Given the description of an element on the screen output the (x, y) to click on. 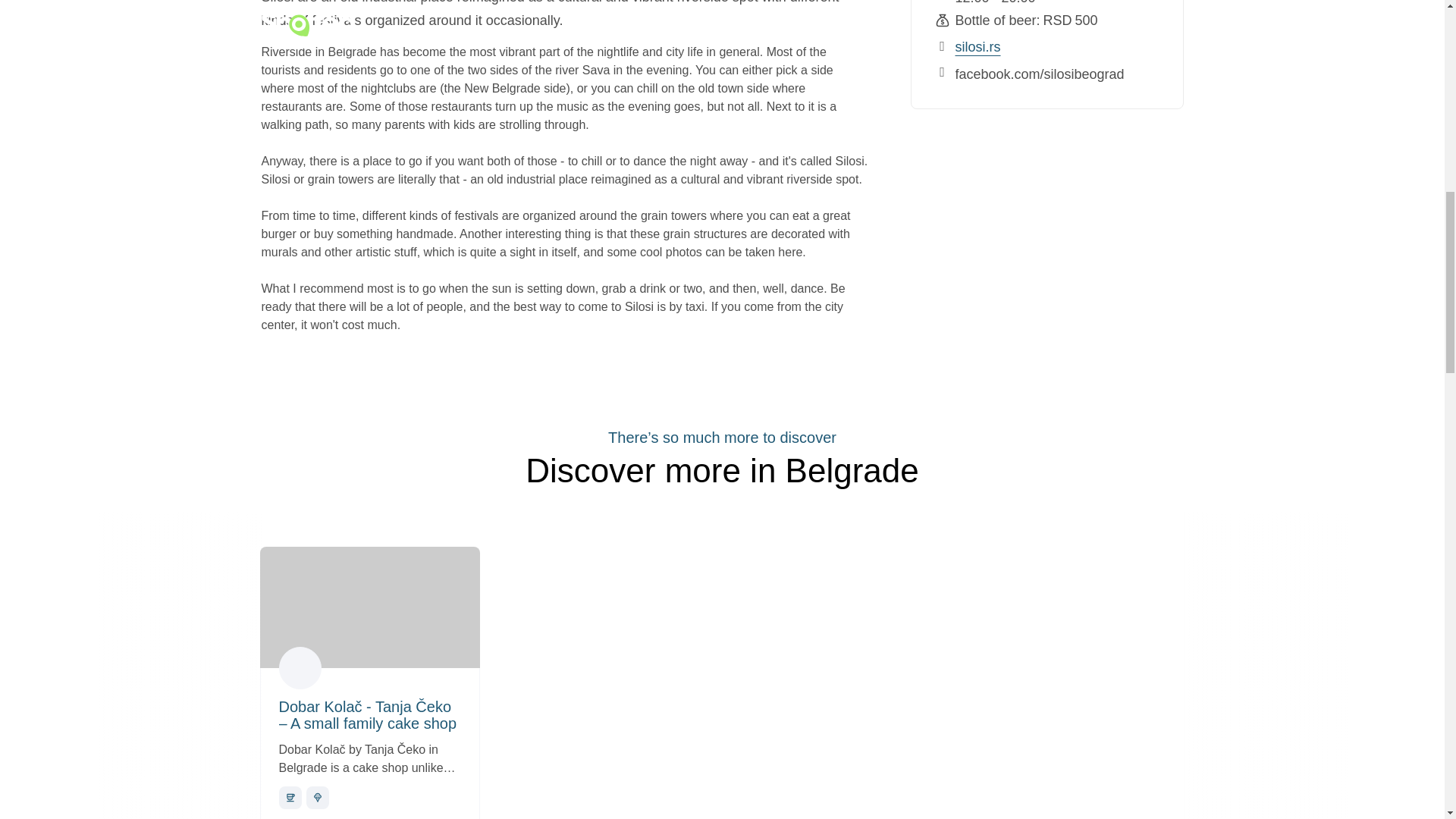
silosi.rs (978, 46)
